Given the description of an element on the screen output the (x, y) to click on. 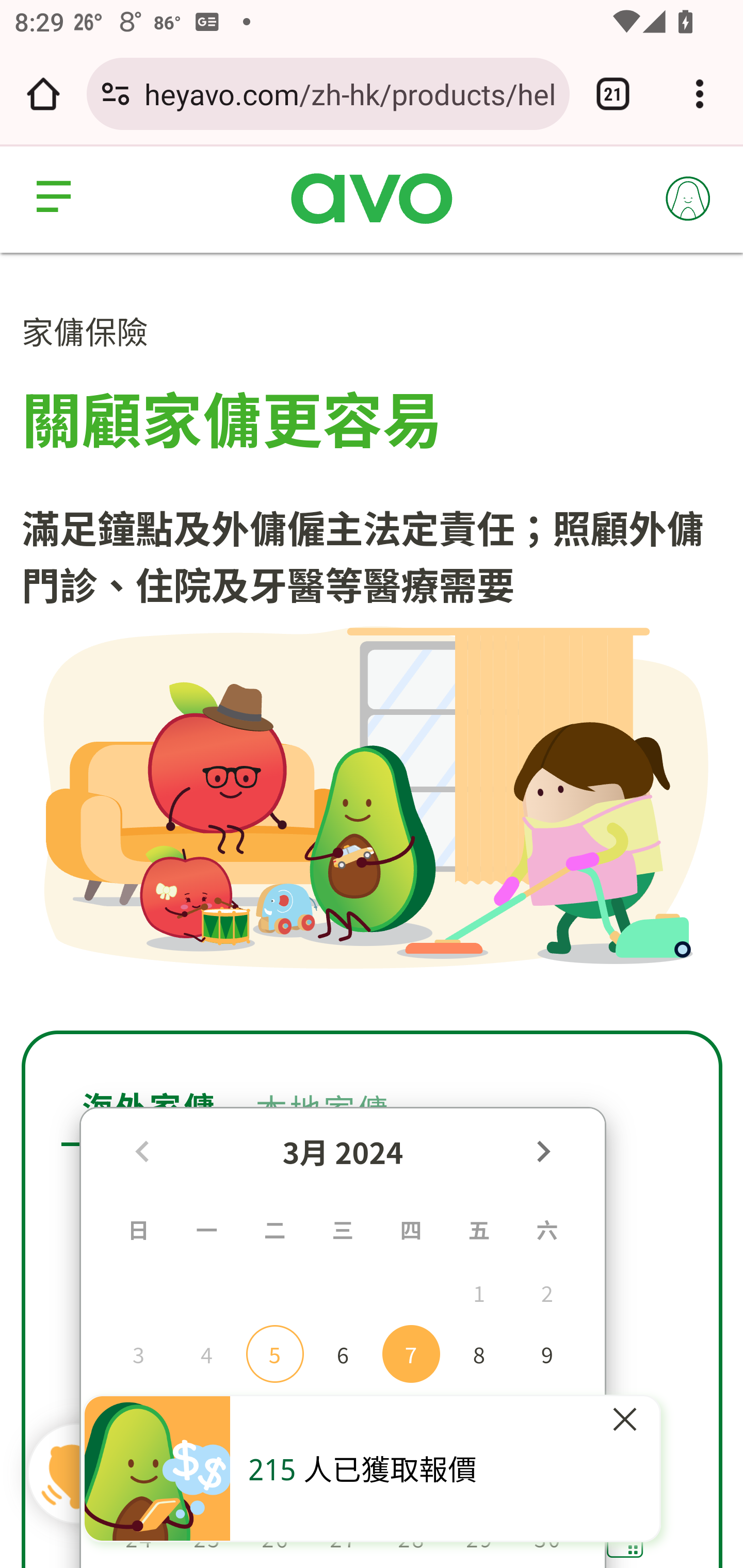
Open the home page (43, 93)
Connection is secure (115, 93)
Switch or close tabs (612, 93)
Customize and control Google Chrome (699, 93)
menu.afb2dfa (56, 198)
Avo Profile (688, 198)
www.heyavo (371, 199)
3月 2024 (343, 1150)
Previous month (141, 1149)
Next month (541, 1149)
1 (478, 1291)
2 (547, 1291)
3 (137, 1353)
4 (206, 1353)
5 (274, 1353)
6 (342, 1353)
7 (410, 1353)
8 (478, 1353)
9 (547, 1353)
